Given the description of an element on the screen output the (x, y) to click on. 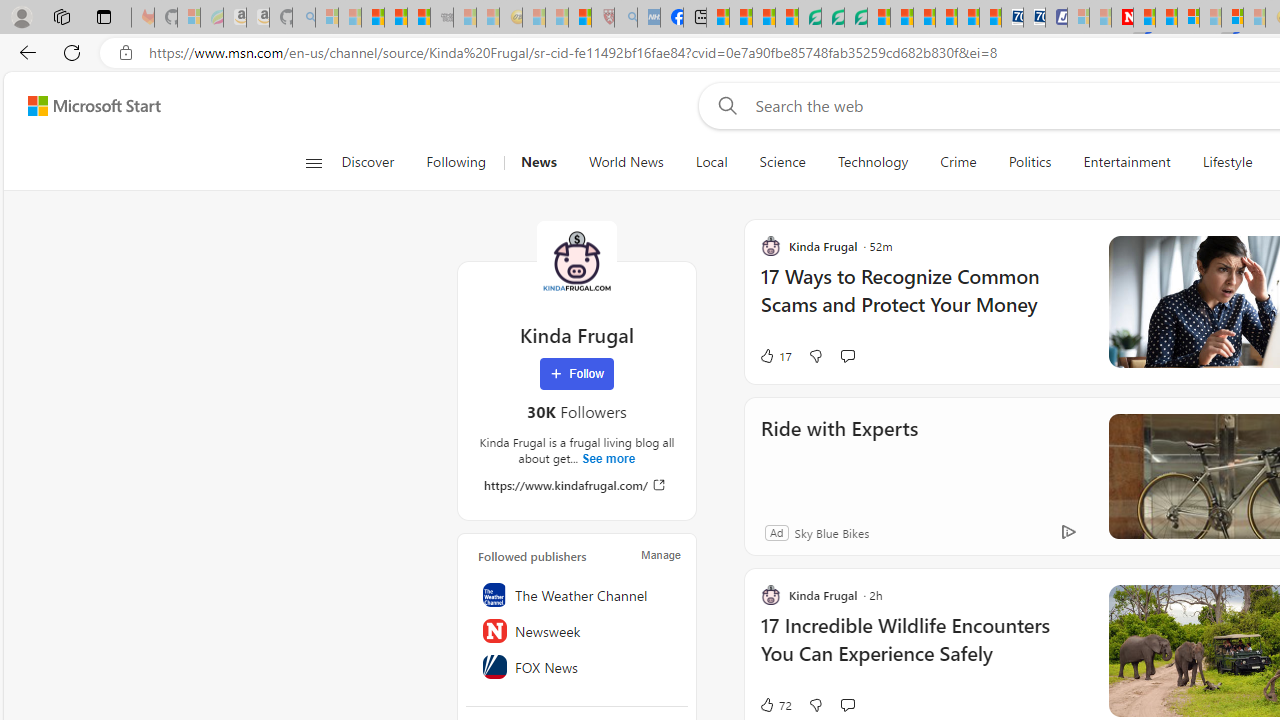
Entertainment (1126, 162)
World News (625, 162)
Local (710, 162)
Robert H. Shmerling, MD - Harvard Health - Sleeping (602, 17)
Local - MSN (580, 17)
Science (781, 162)
The Weather Channel - MSN (372, 17)
LendingTree - Compare Lenders (809, 17)
News (537, 162)
News (538, 162)
